Given the description of an element on the screen output the (x, y) to click on. 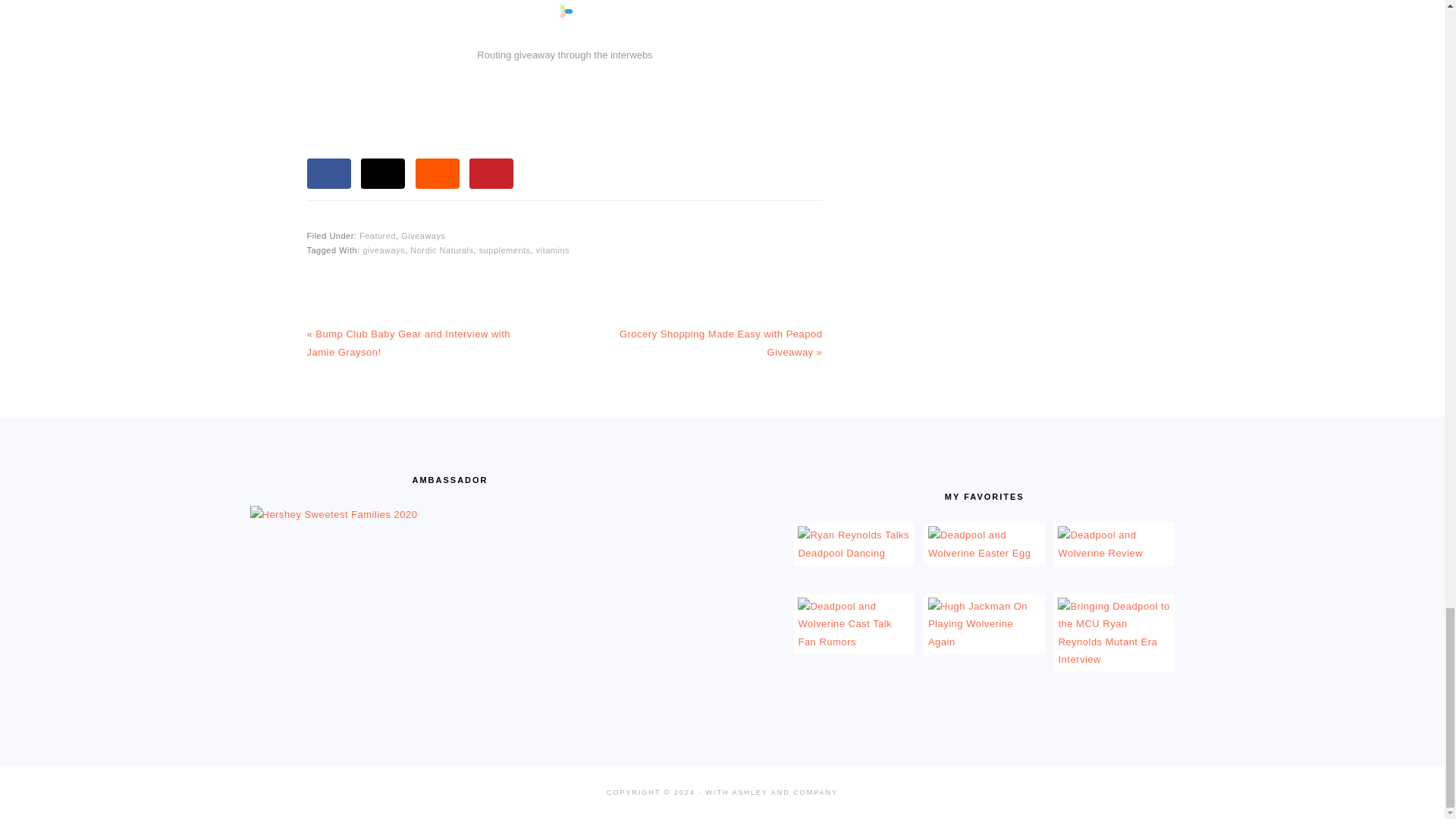
Nordic Naturals (441, 249)
Giveaways (423, 235)
giveaways (383, 249)
Featured (377, 235)
Share on Reddit (437, 173)
Share on X (382, 173)
Share on Facebook (327, 173)
